Given the description of an element on the screen output the (x, y) to click on. 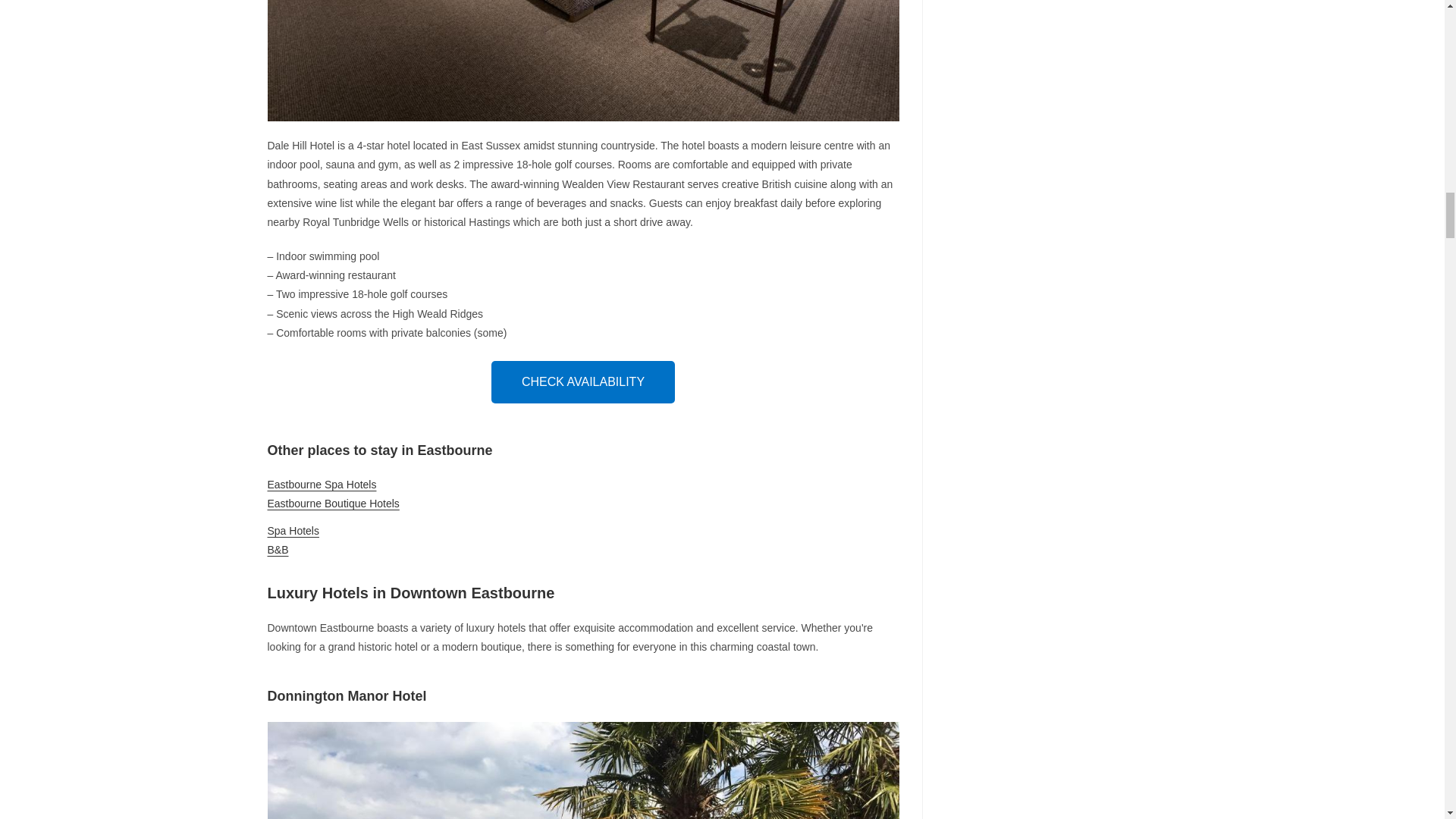
Eastbourne Spa Hotels (320, 484)
Eastbourne Boutique Hotels (332, 503)
Spa Hotels (292, 530)
